Given the description of an element on the screen output the (x, y) to click on. 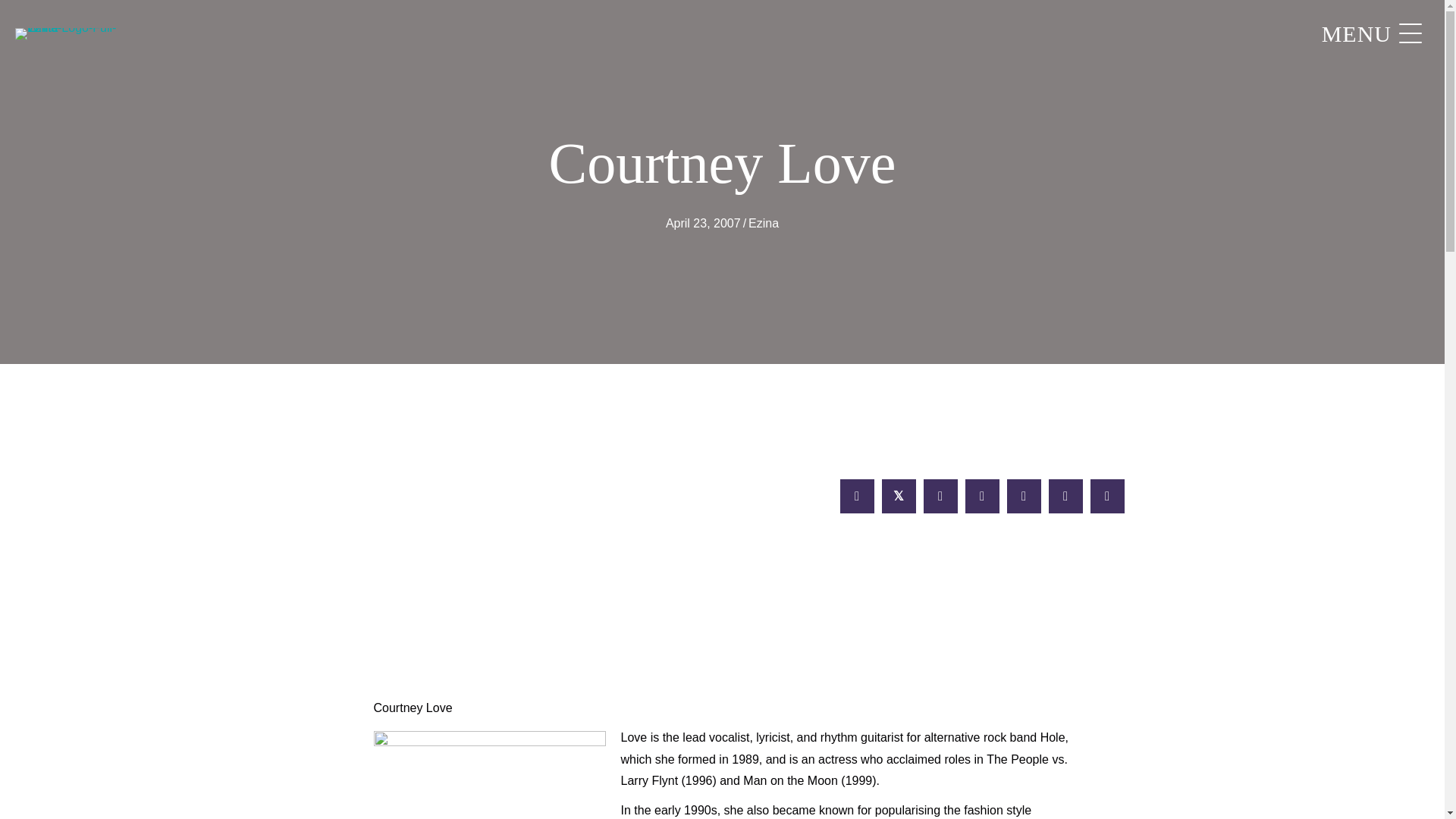
MENU (1367, 34)
Ezina-Logo-Full-White (71, 33)
Ezina (763, 223)
